Given the description of an element on the screen output the (x, y) to click on. 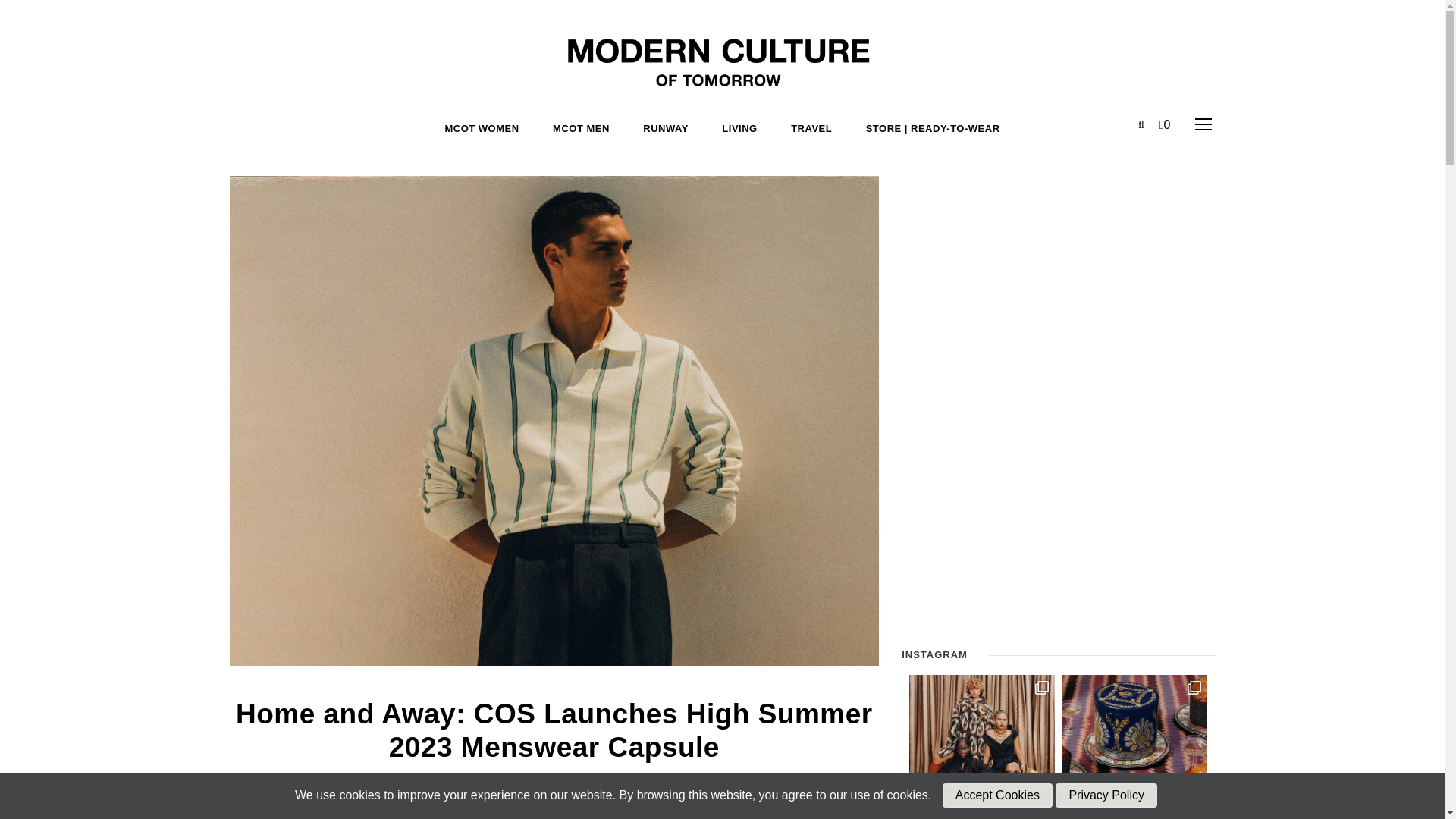
Heather Cleal (559, 780)
LIVING (739, 128)
MCOT MEN (581, 128)
TRAVEL (810, 128)
RUNWAY (665, 128)
Posts by Heather Cleal (559, 780)
MCOT WOMEN (481, 128)
Men's Style (660, 780)
July 18, 2023 (453, 780)
